Given the description of an element on the screen output the (x, y) to click on. 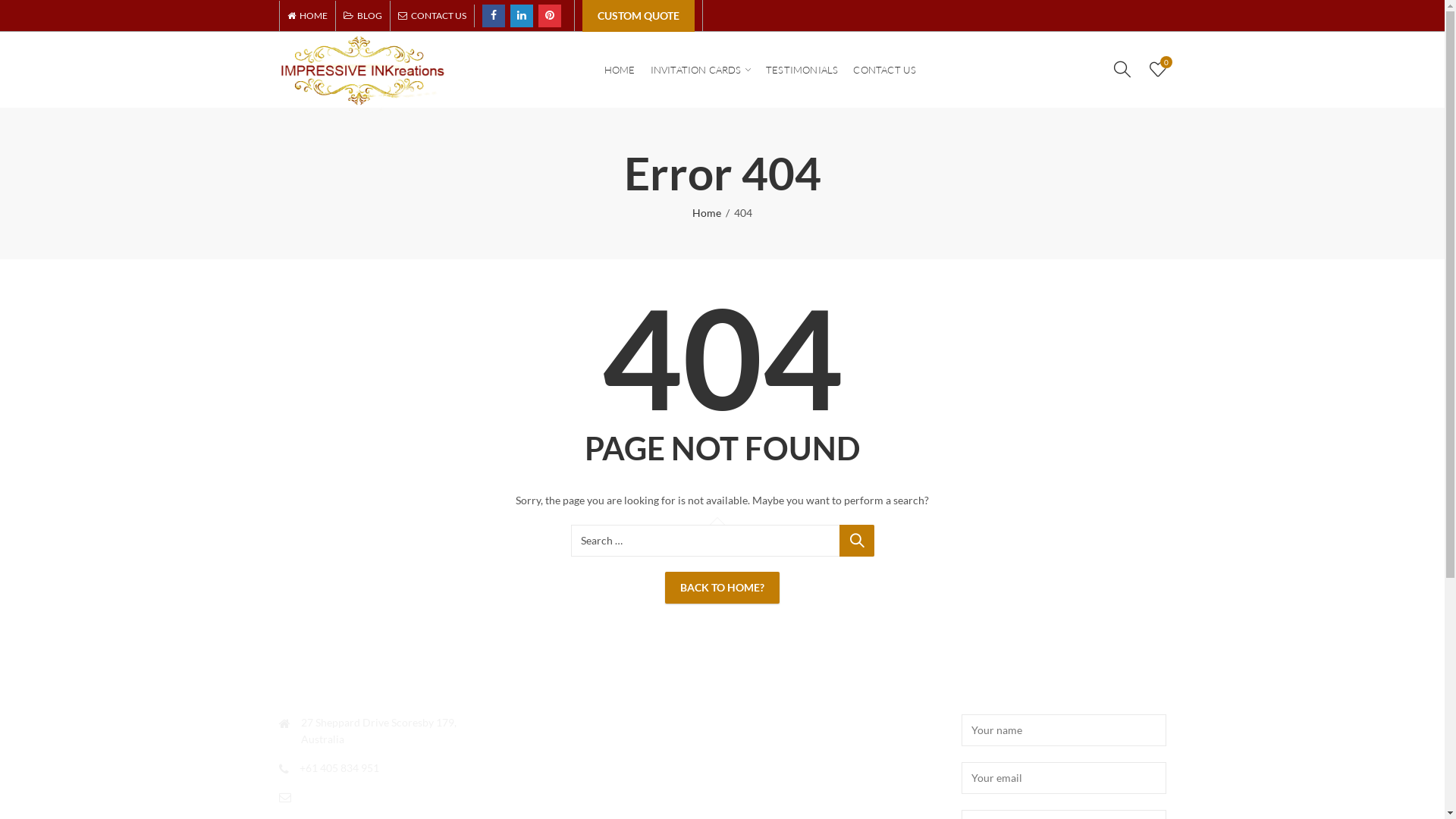
impressive.inkreations@gmail.com Element type: text (383, 795)
CONTACT US Element type: text (884, 69)
Foil Stamping and Embossing Element type: text (574, 721)
SEARCH Element type: text (855, 540)
A4 Card Stocks Element type: text (542, 749)
CUSTOM QUOTE Element type: text (638, 15)
INVITATION CARDS Element type: text (700, 69)
TESTIMONIALS Element type: text (801, 69)
Letterpress Element type: text (760, 778)
BACK TO HOME? Element type: text (722, 587)
BLOG Element type: text (362, 15)
Blind Embossing Element type: text (545, 778)
CONTACT US Element type: text (427, 15)
Church Books Element type: text (539, 806)
Home Element type: text (706, 212)
Passport Invitations Element type: text (781, 806)
0 Element type: text (1157, 68)
Letterpress Element type: text (760, 749)
HOME Element type: text (619, 69)
HOME Element type: text (310, 15)
Letterpress Wedding Invitations Element type: text (809, 721)
